Given the description of an element on the screen output the (x, y) to click on. 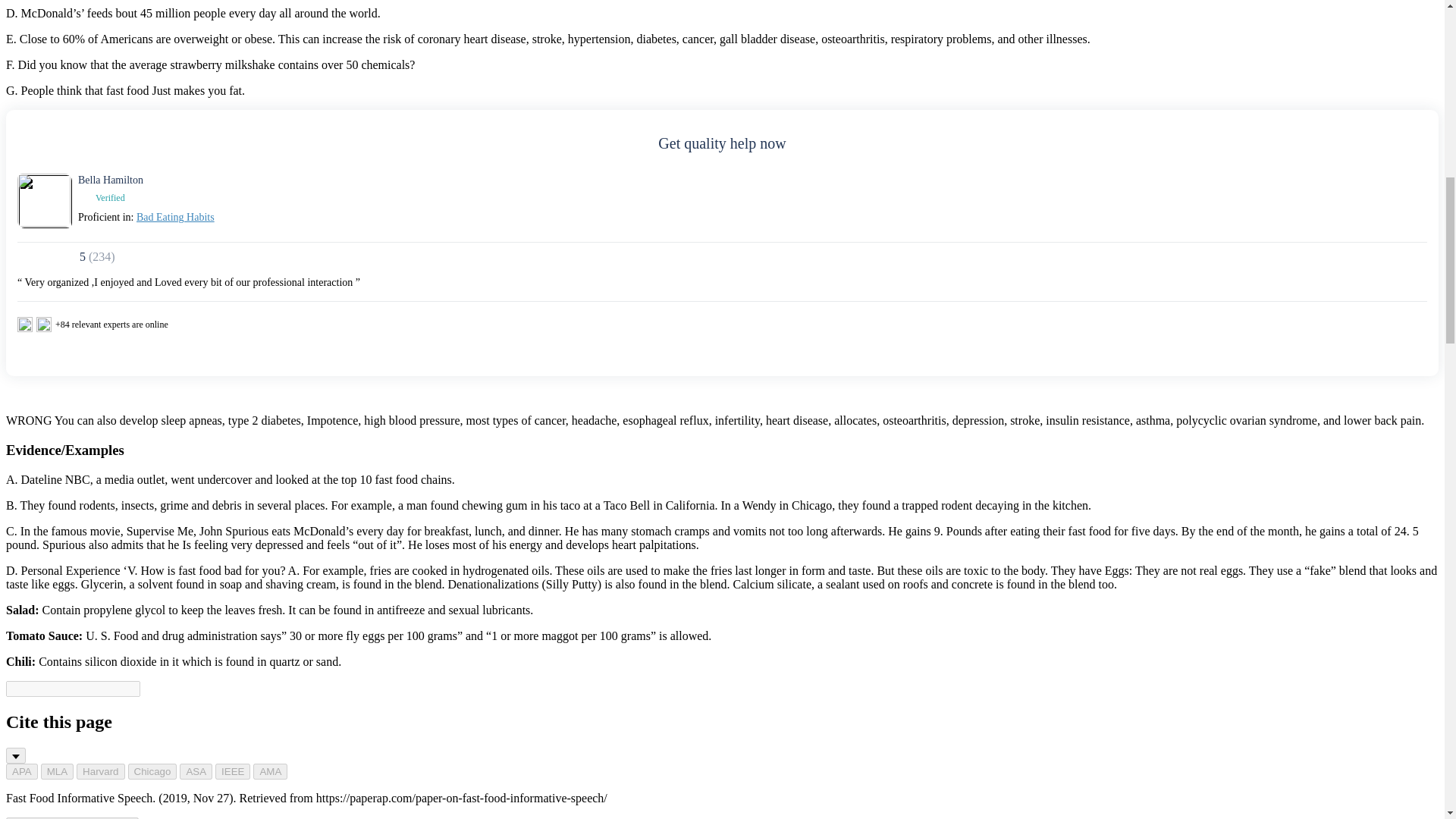
APA (21, 771)
IEEE (232, 771)
Bad Eating Habits (175, 216)
Chicago (152, 771)
ASA (195, 771)
AMA (269, 771)
copyCopy to Clipboard (71, 818)
Harvard (100, 771)
MLA (57, 771)
